Given the description of an element on the screen output the (x, y) to click on. 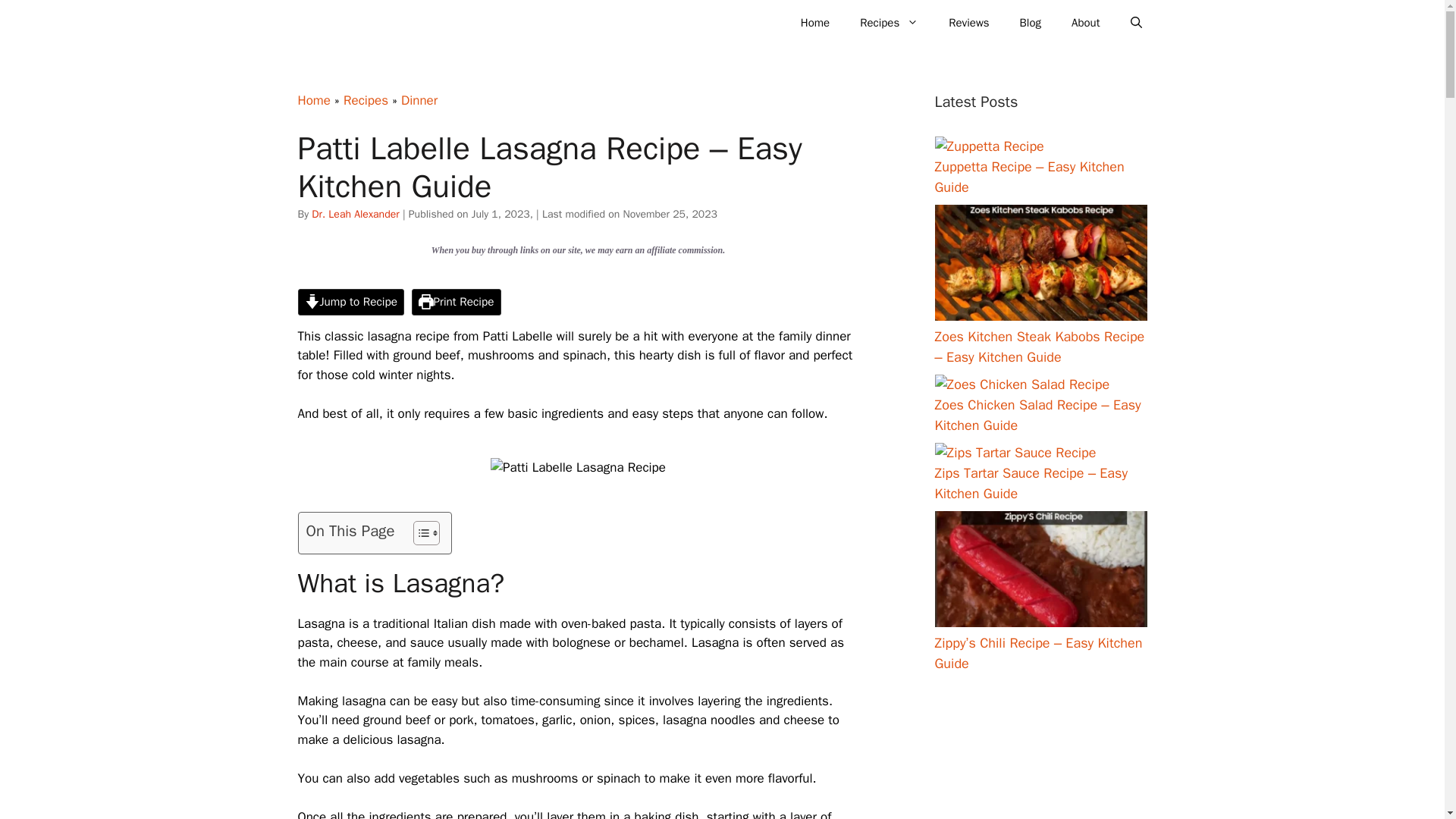
About (1086, 22)
Home (313, 100)
Dinner (419, 100)
Recipes (365, 100)
Patti Labelle Lasagna Recipe (577, 468)
Recipes (888, 22)
Blog (1030, 22)
Home (815, 22)
Dr. Leah Alexander (354, 214)
Jump to Recipe (350, 302)
